Given the description of an element on the screen output the (x, y) to click on. 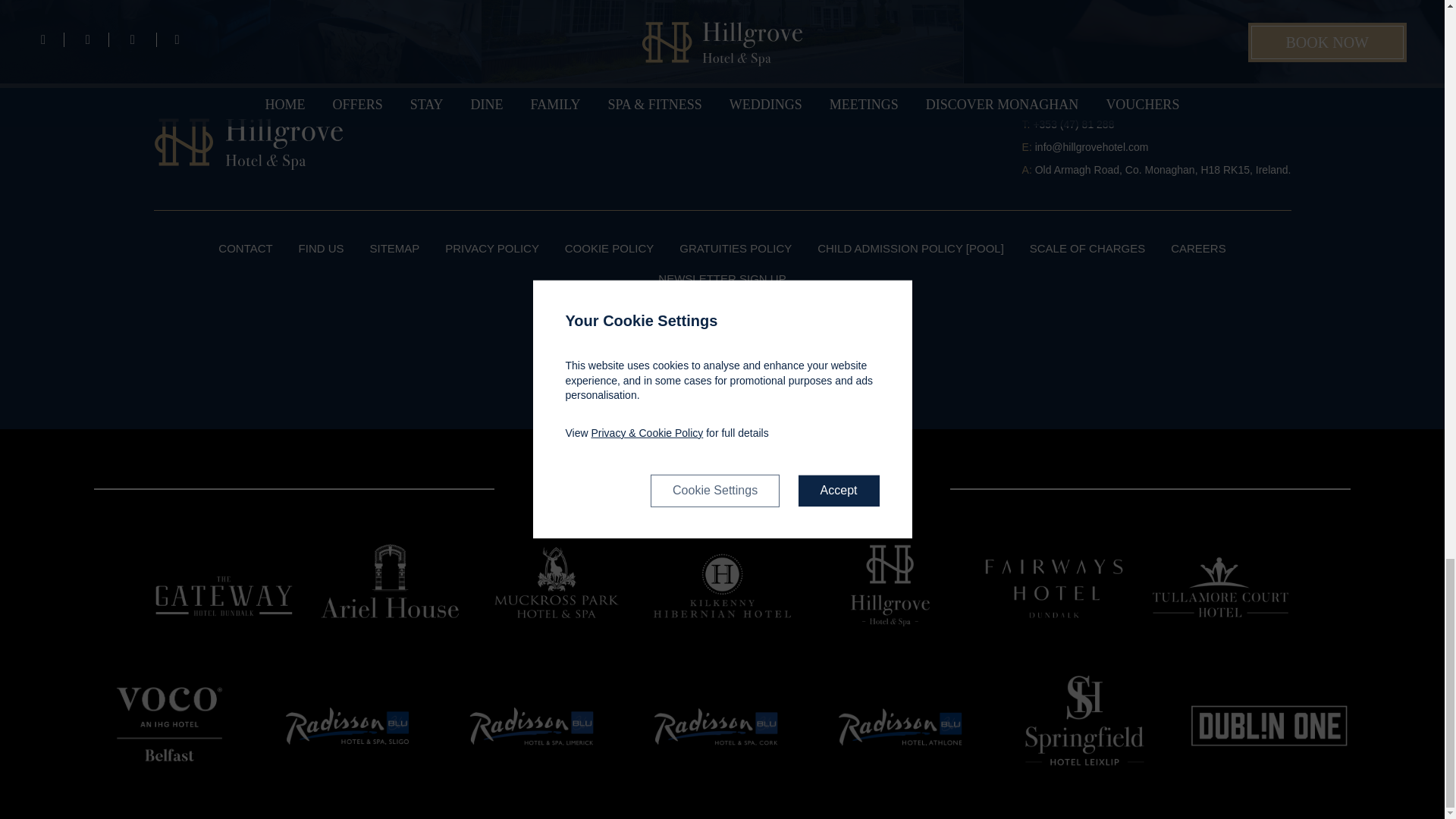
Hotel Engine Booking Provider (721, 387)
